Given the description of an element on the screen output the (x, y) to click on. 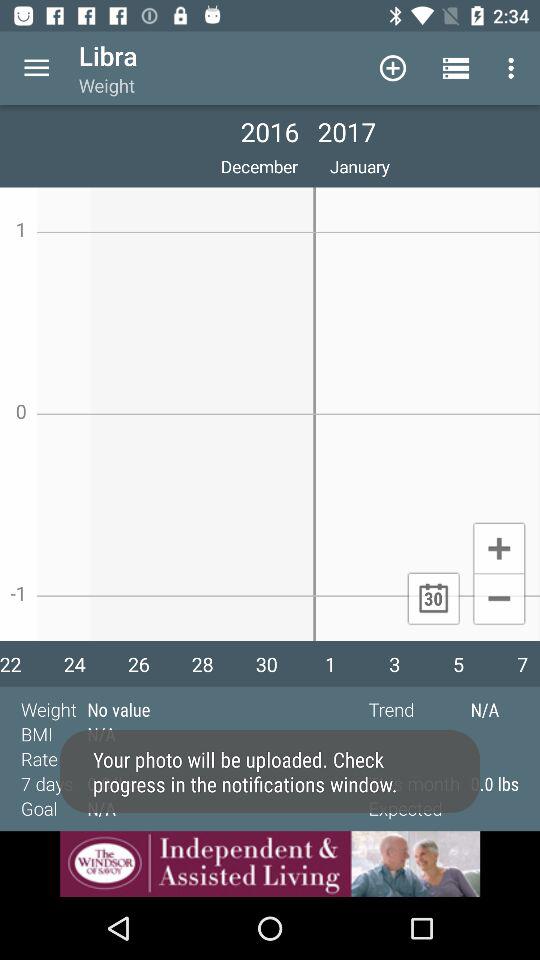
more options button (36, 68)
